Given the description of an element on the screen output the (x, y) to click on. 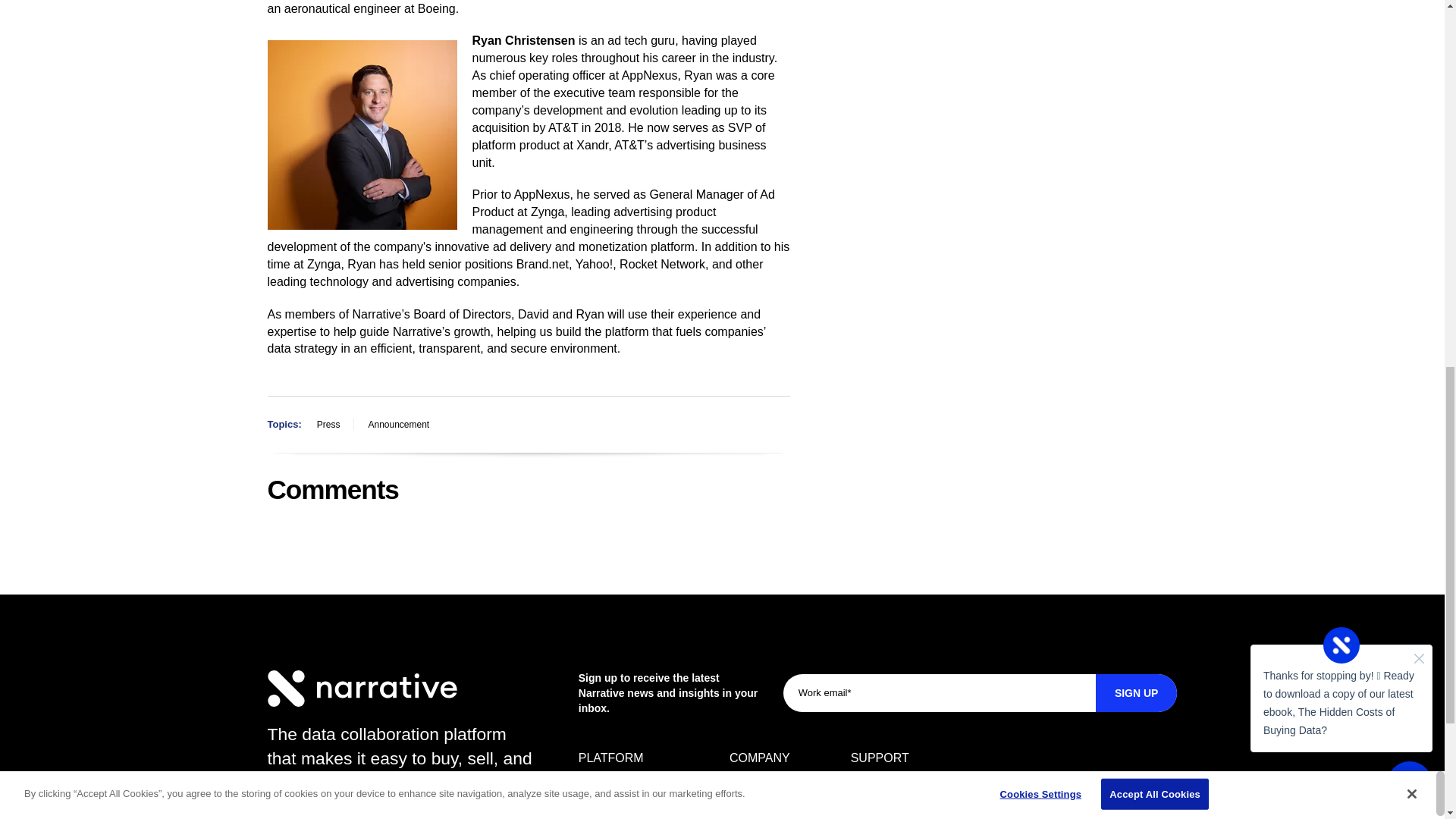
Narrative logo (361, 688)
Sign up (1136, 692)
Announcement (397, 424)
Press (327, 424)
